Given the description of an element on the screen output the (x, y) to click on. 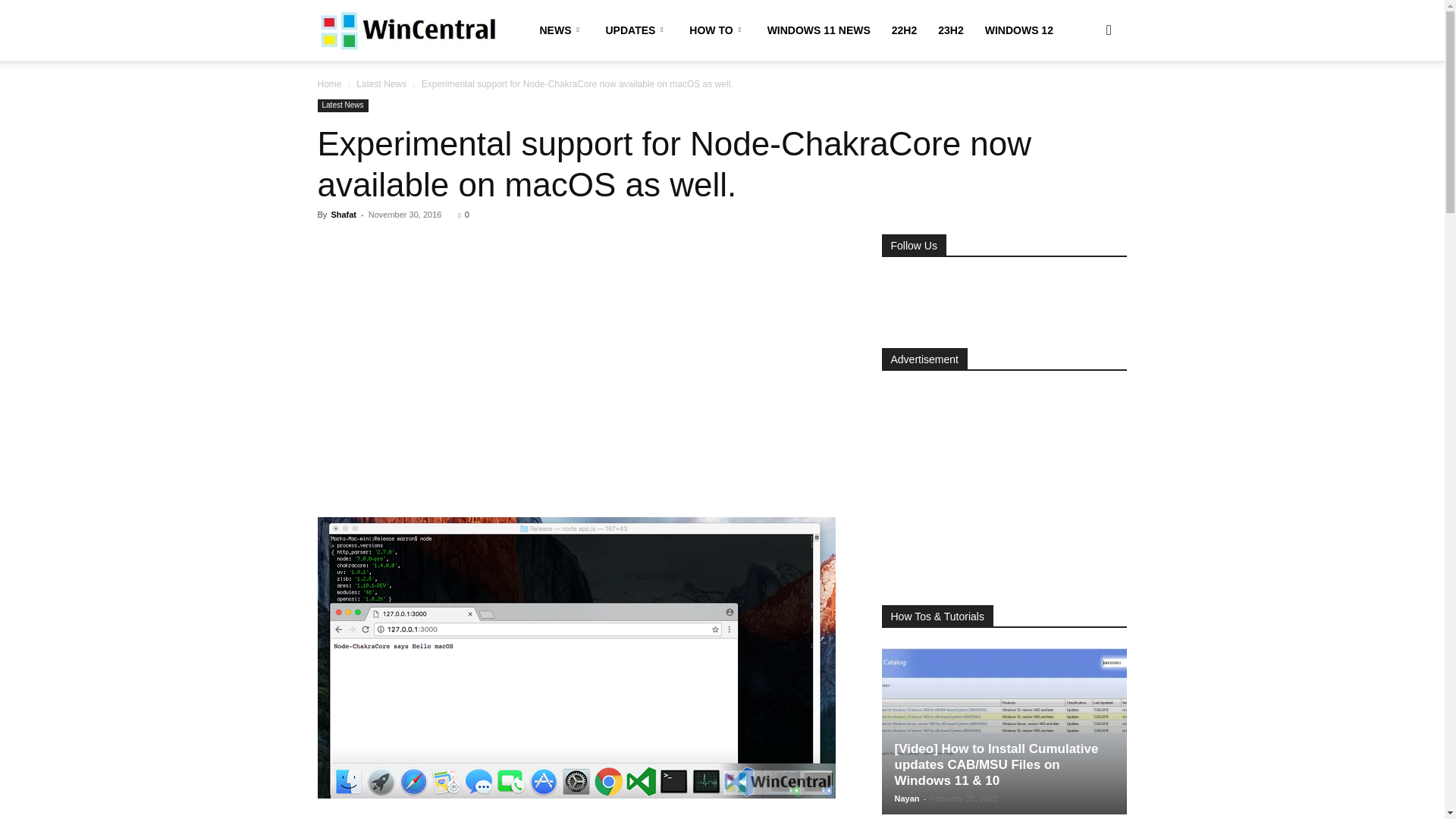
Latest News (381, 83)
Advertisement (580, 346)
WinCentral logo (406, 31)
Latest News (342, 105)
WINDOWS 11 NEWS (818, 30)
Search (1085, 102)
Home (328, 83)
WINDOWS 12 (1019, 30)
UPDATES (636, 30)
HOW TO (716, 30)
